Given the description of an element on the screen output the (x, y) to click on. 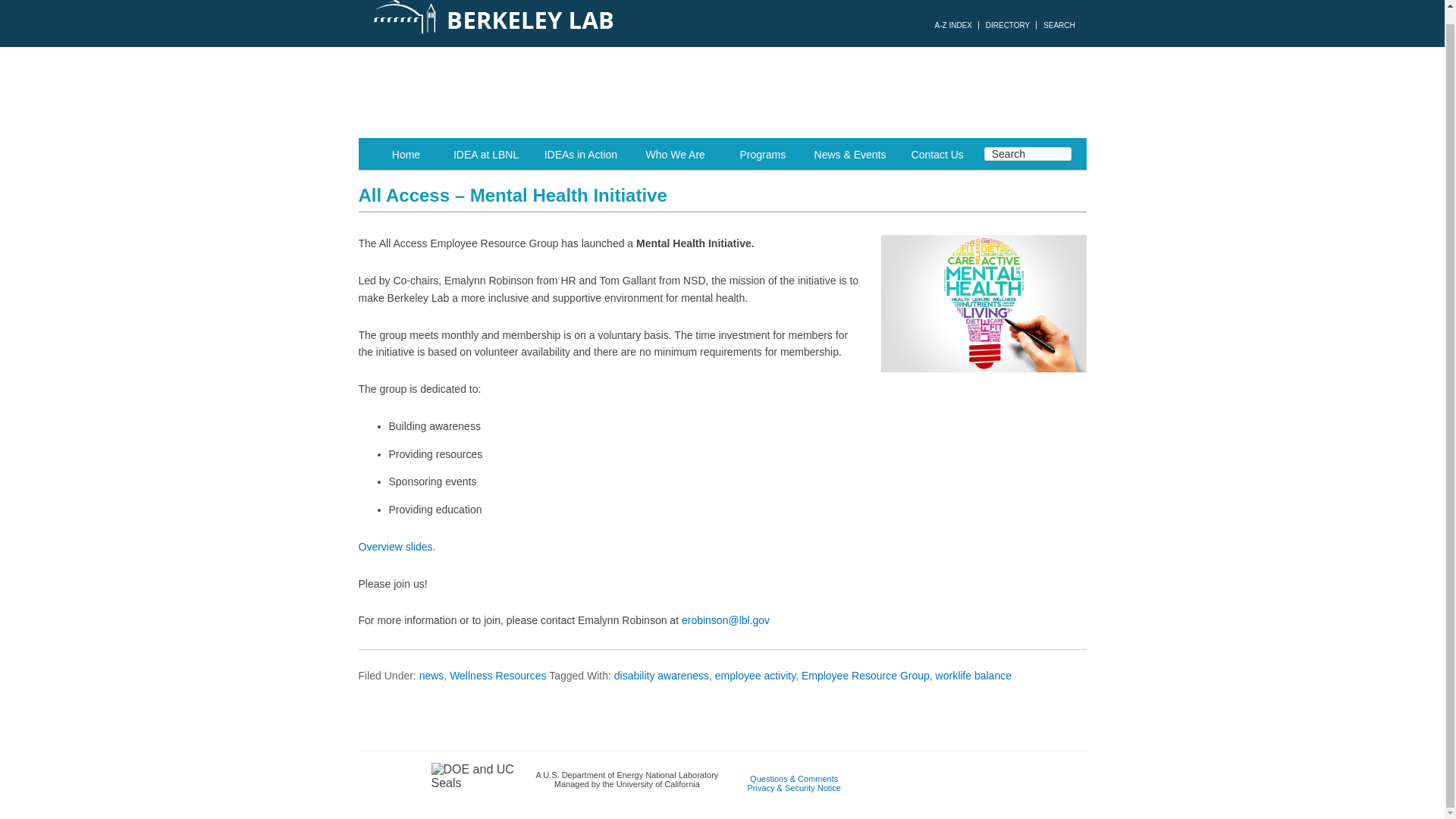
Programs (762, 153)
Who We Are (675, 153)
 Search (1027, 153)
SEARCH (1059, 25)
IDEAs in Action (580, 153)
A-Z INDEX (952, 25)
IDEA at LBNL (485, 153)
Home (405, 153)
Berkeley Lab (562, 23)
Inclusion, Diversity, Equity and Accountability (722, 92)
DIRECTORY (1007, 25)
Berkeley Lab (562, 23)
 Search (1027, 153)
